Given the description of an element on the screen output the (x, y) to click on. 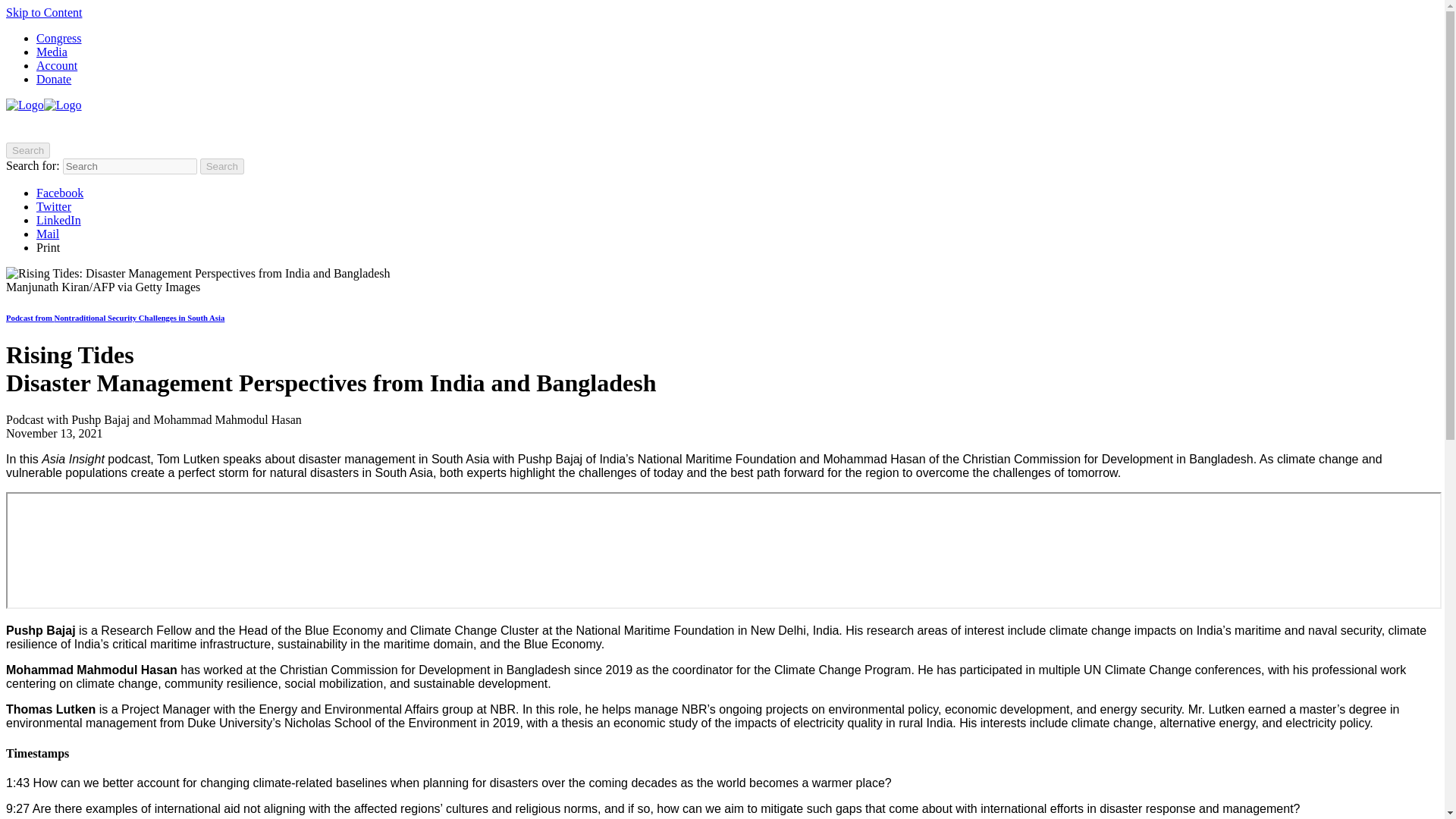
Account (56, 65)
Programs (144, 127)
Congress (58, 38)
Media (51, 51)
Skip to Content (43, 11)
Experts (84, 127)
Donate (53, 78)
About (30, 127)
